Given the description of an element on the screen output the (x, y) to click on. 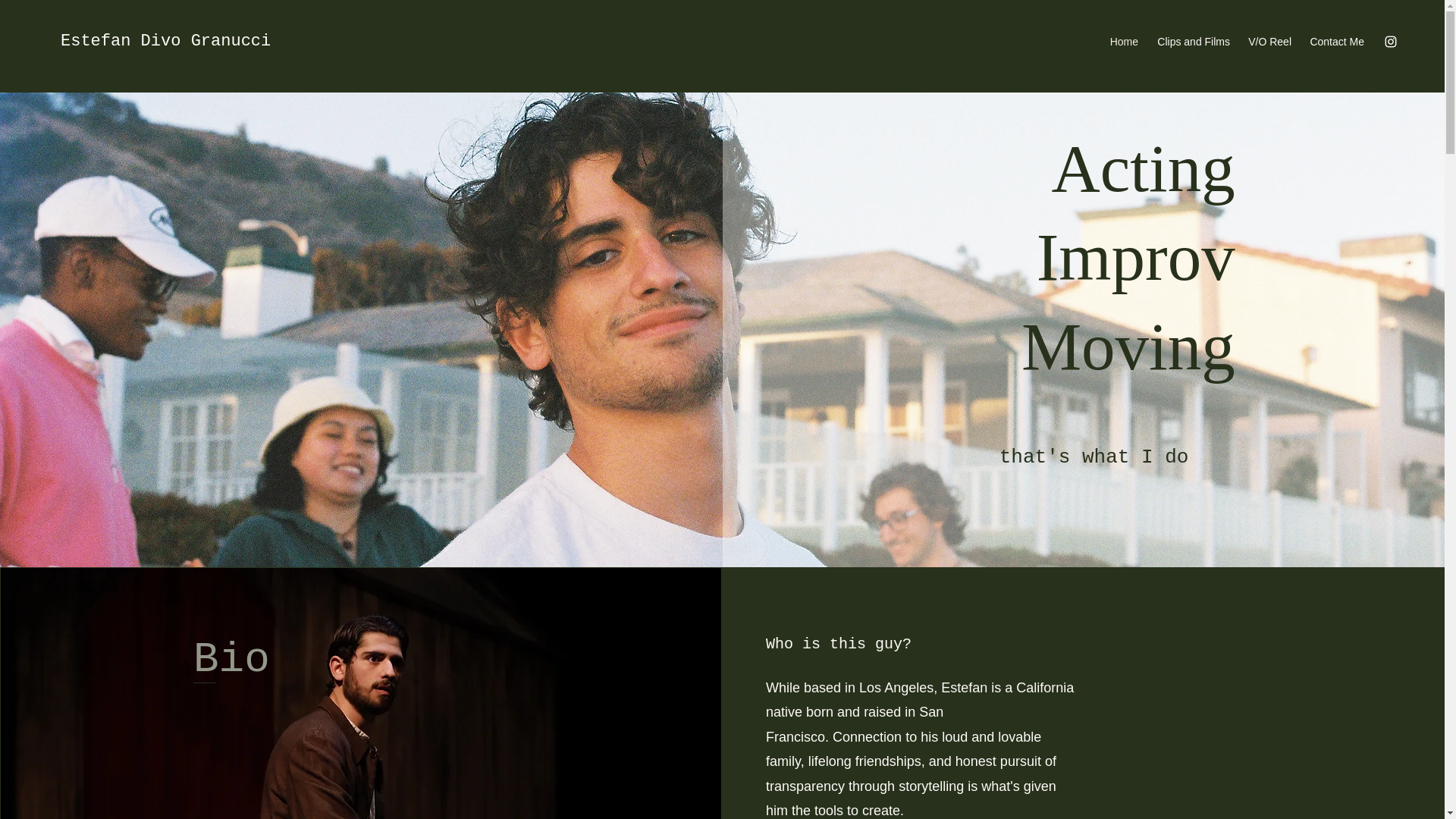
Clips and Films (1191, 41)
Home (1122, 41)
Contact Me (1334, 41)
